Given the description of an element on the screen output the (x, y) to click on. 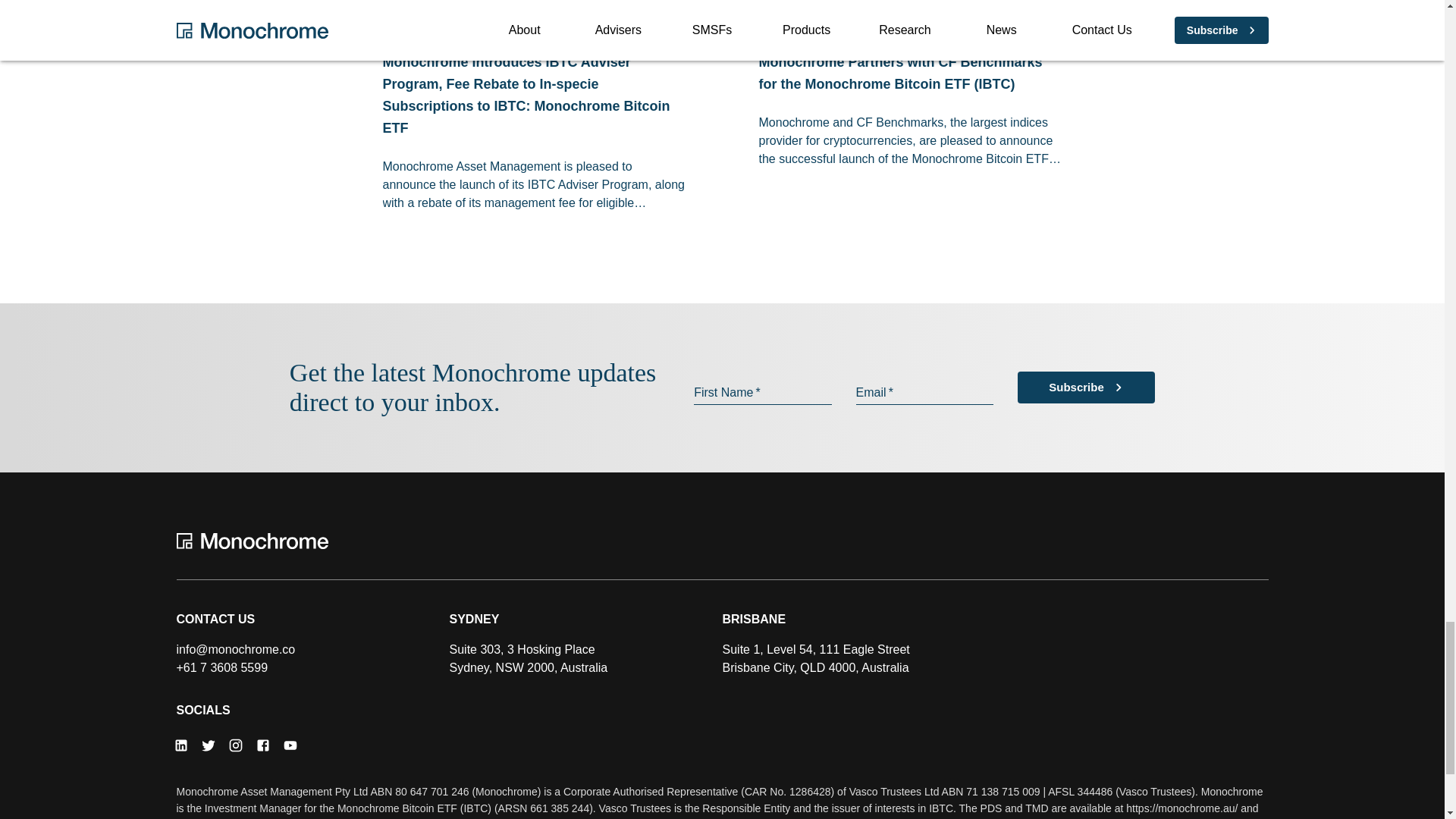
YouTube (289, 745)
Twitter (207, 745)
Instagram (234, 745)
Home (722, 540)
Announcements (617, 30)
Facebook (262, 745)
LinkedIn (180, 745)
